Given the description of an element on the screen output the (x, y) to click on. 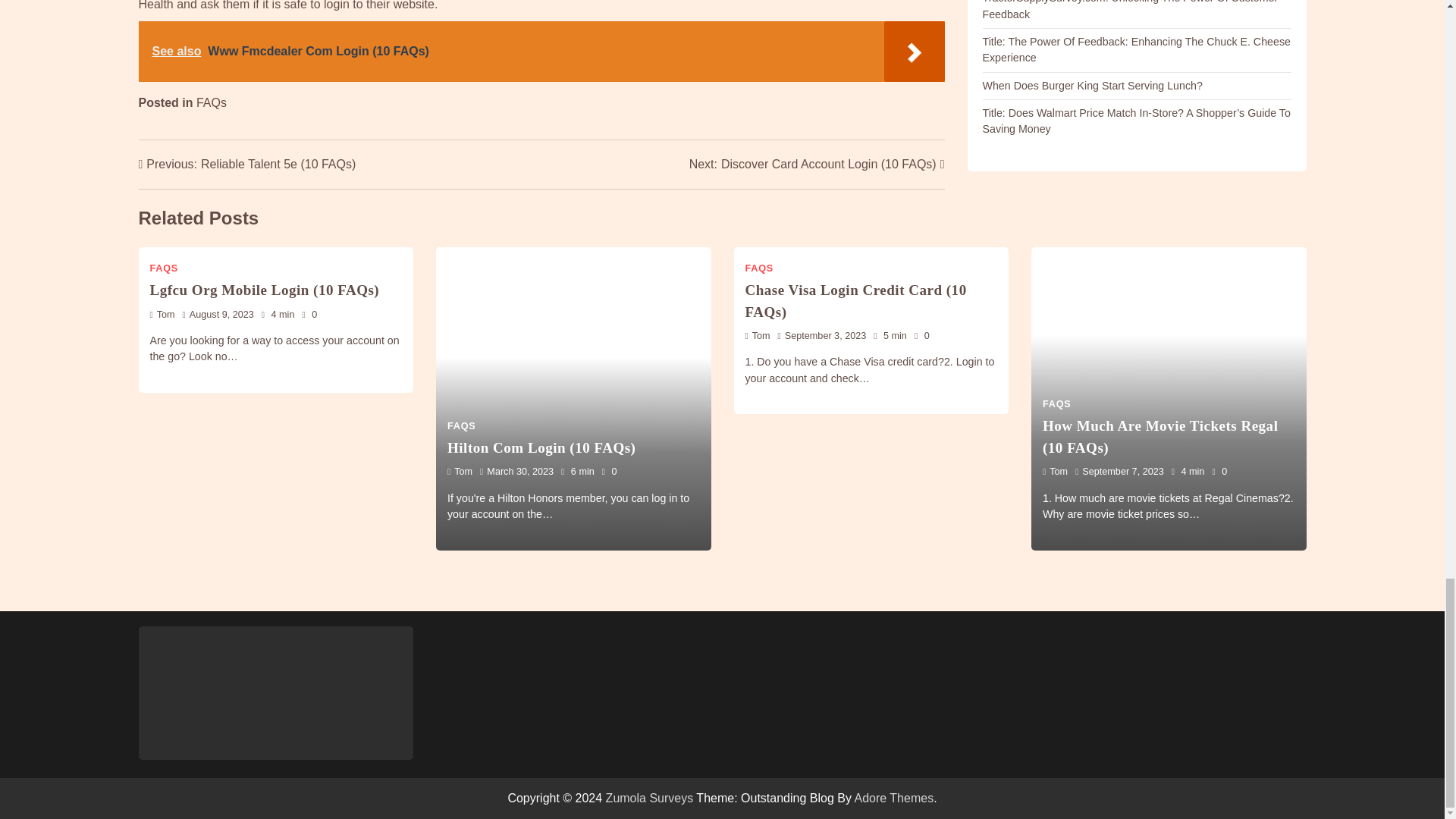
FAQs (211, 102)
